Given the description of an element on the screen output the (x, y) to click on. 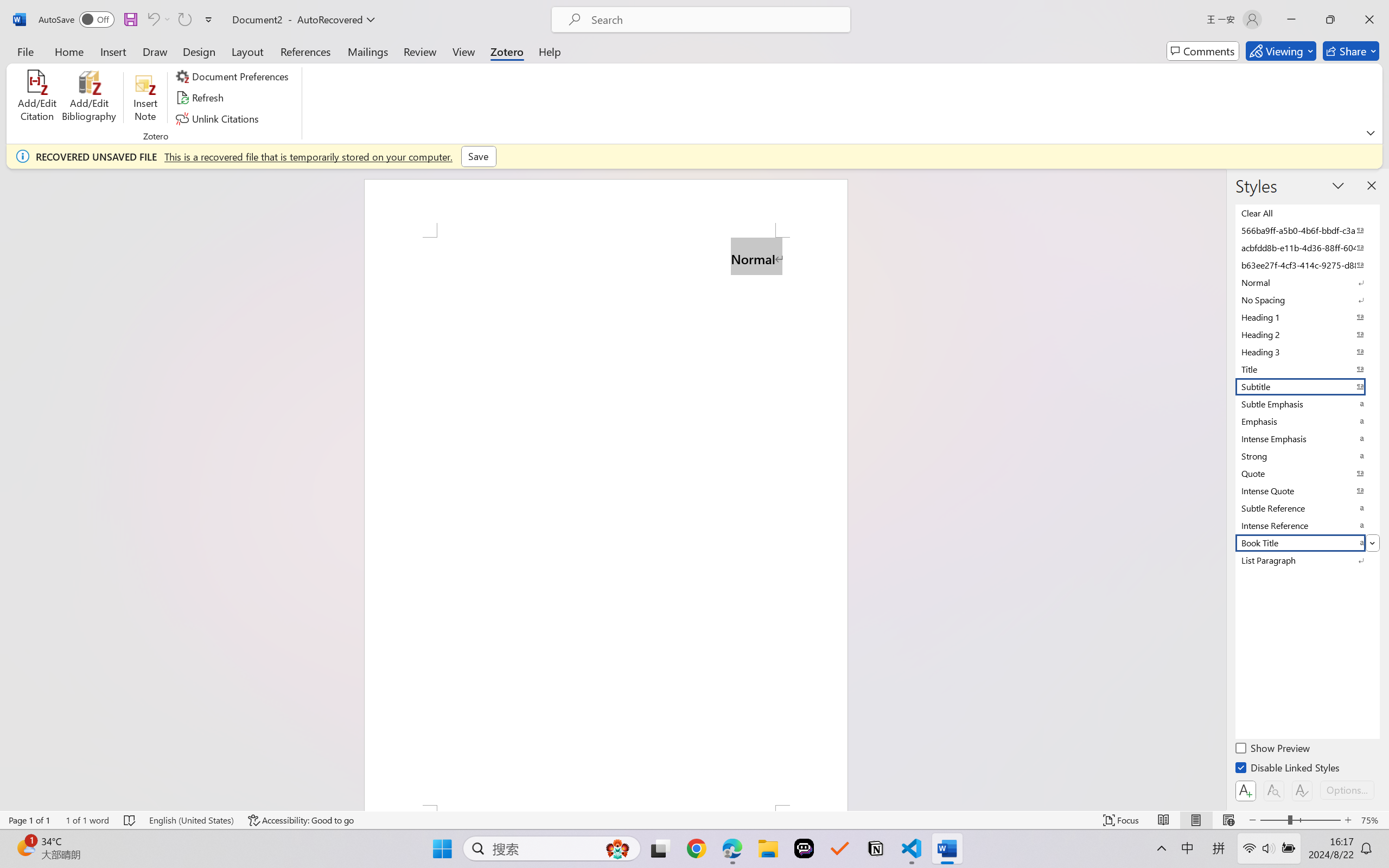
Page Number Page 1 of 1 (29, 819)
Unlink Citations (218, 118)
Ribbon Display Options (1370, 132)
Can't Undo (152, 19)
Title (1306, 369)
Subtle Reference (1306, 508)
Intense Emphasis (1306, 438)
